Given the description of an element on the screen output the (x, y) to click on. 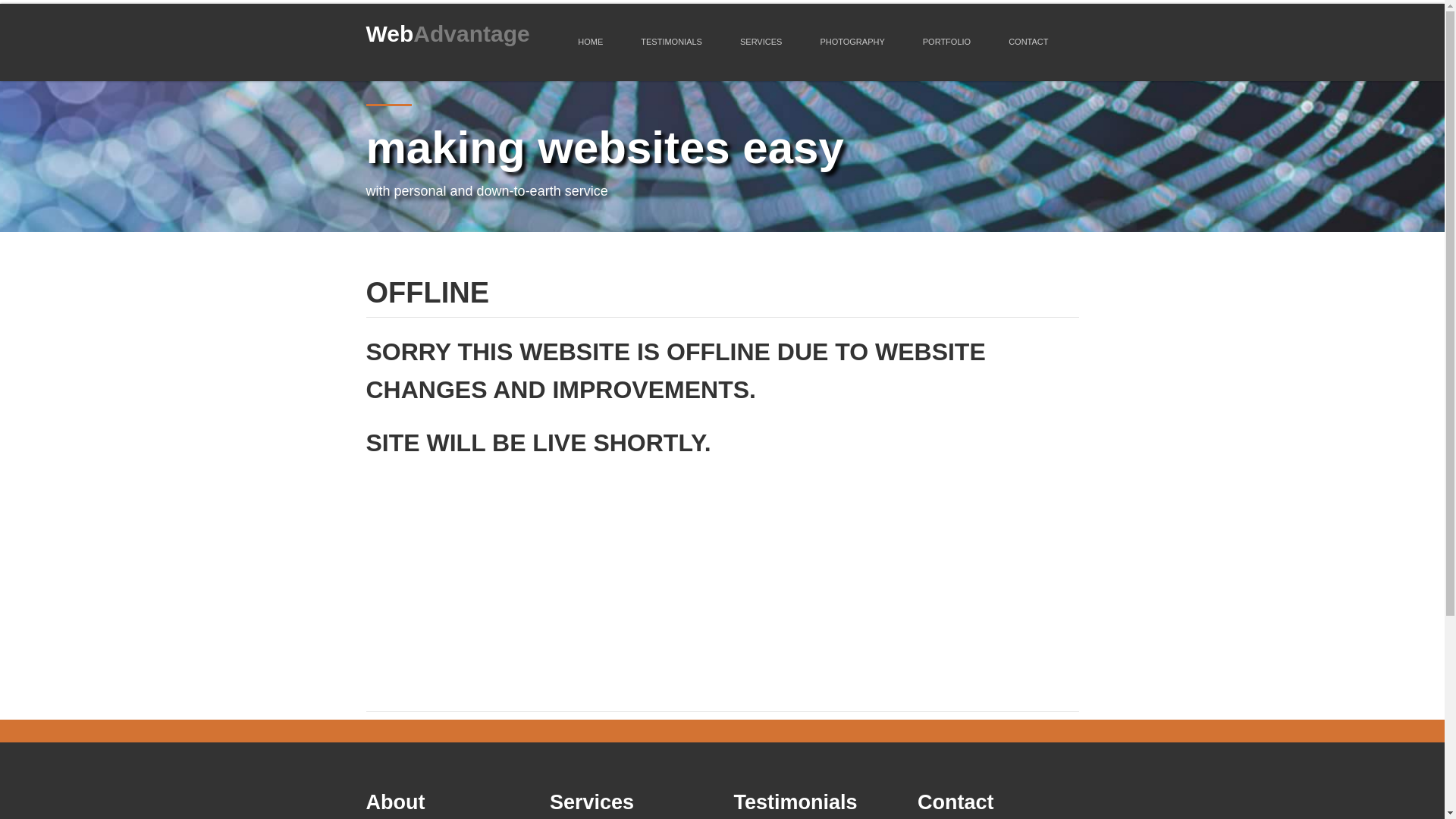
PORTFOLIO (946, 42)
HOME (590, 42)
SERVICES (760, 42)
TESTIMONIALS (671, 42)
CONTACT (1028, 42)
PHOTOGRAPHY (851, 42)
WebAdvantage (447, 33)
